Given the description of an element on the screen output the (x, y) to click on. 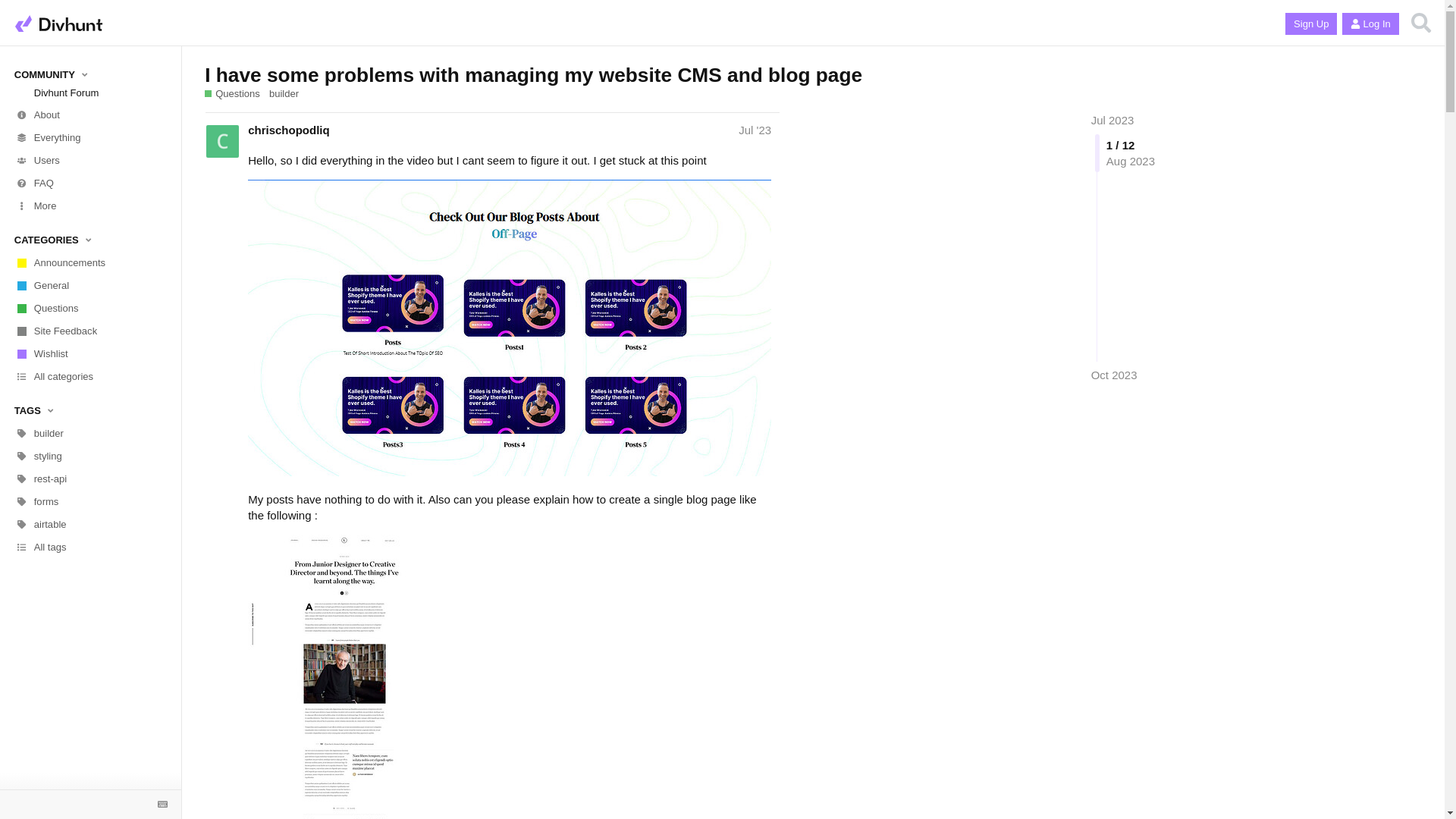
Everything (90, 137)
CATEGORIES (90, 240)
builder (90, 433)
Wishlist (90, 354)
Guidelines for using this site (90, 182)
rest-api (90, 478)
chrischopodliq (288, 130)
styling (90, 456)
Jul 2023 (1112, 119)
Oct 11, 2023 6:01 pm (1113, 374)
All topics (90, 137)
TAGS (90, 410)
Toggle section (90, 240)
Announcements (90, 262)
